Given the description of an element on the screen output the (x, y) to click on. 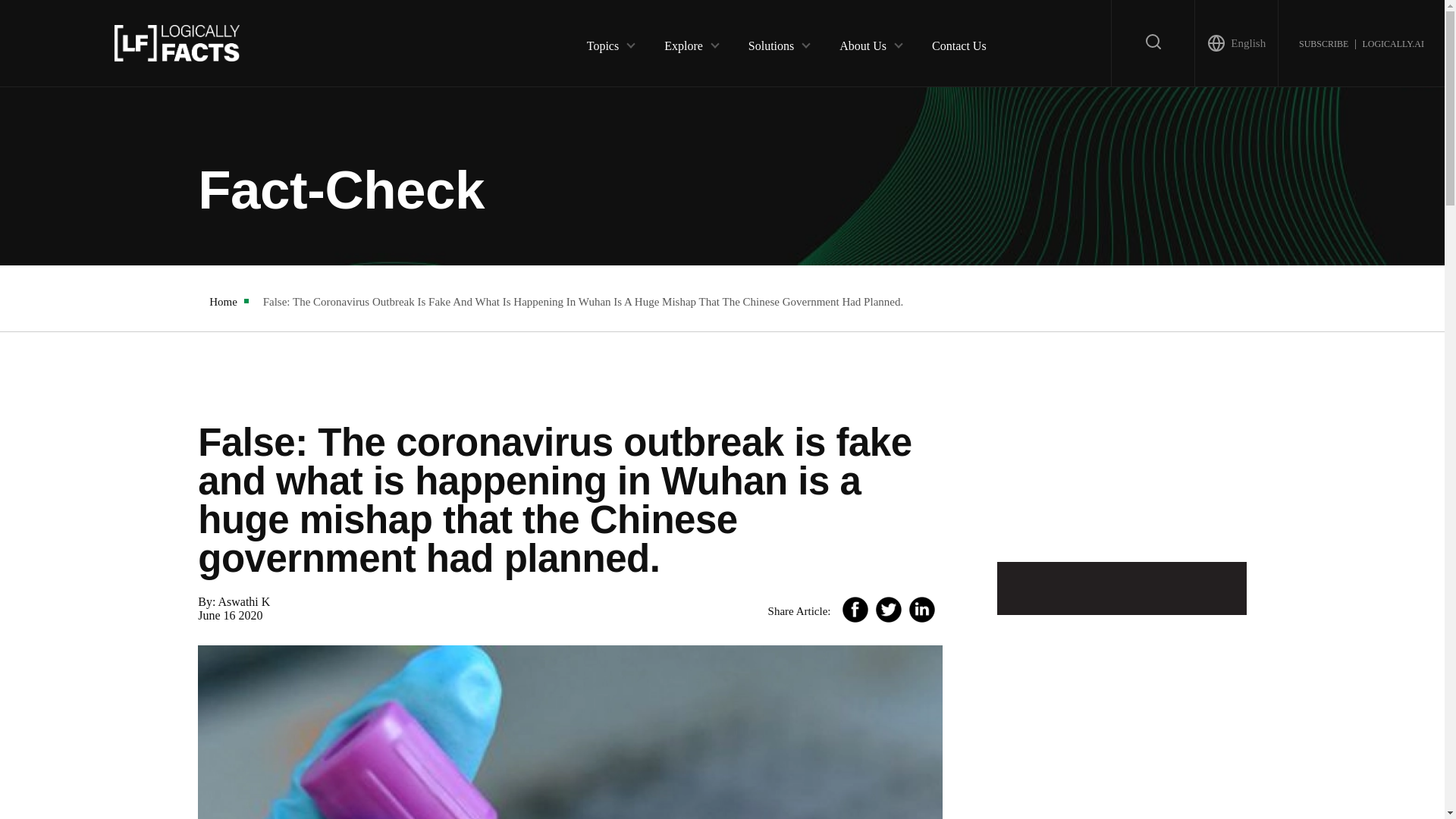
Explore (683, 42)
Contact Us (959, 42)
Topics (602, 42)
SUBSCRIBE (1323, 42)
Solutions (770, 42)
LOGICALLY.AI (1392, 42)
Home (223, 301)
About Us (863, 42)
